Given the description of an element on the screen output the (x, y) to click on. 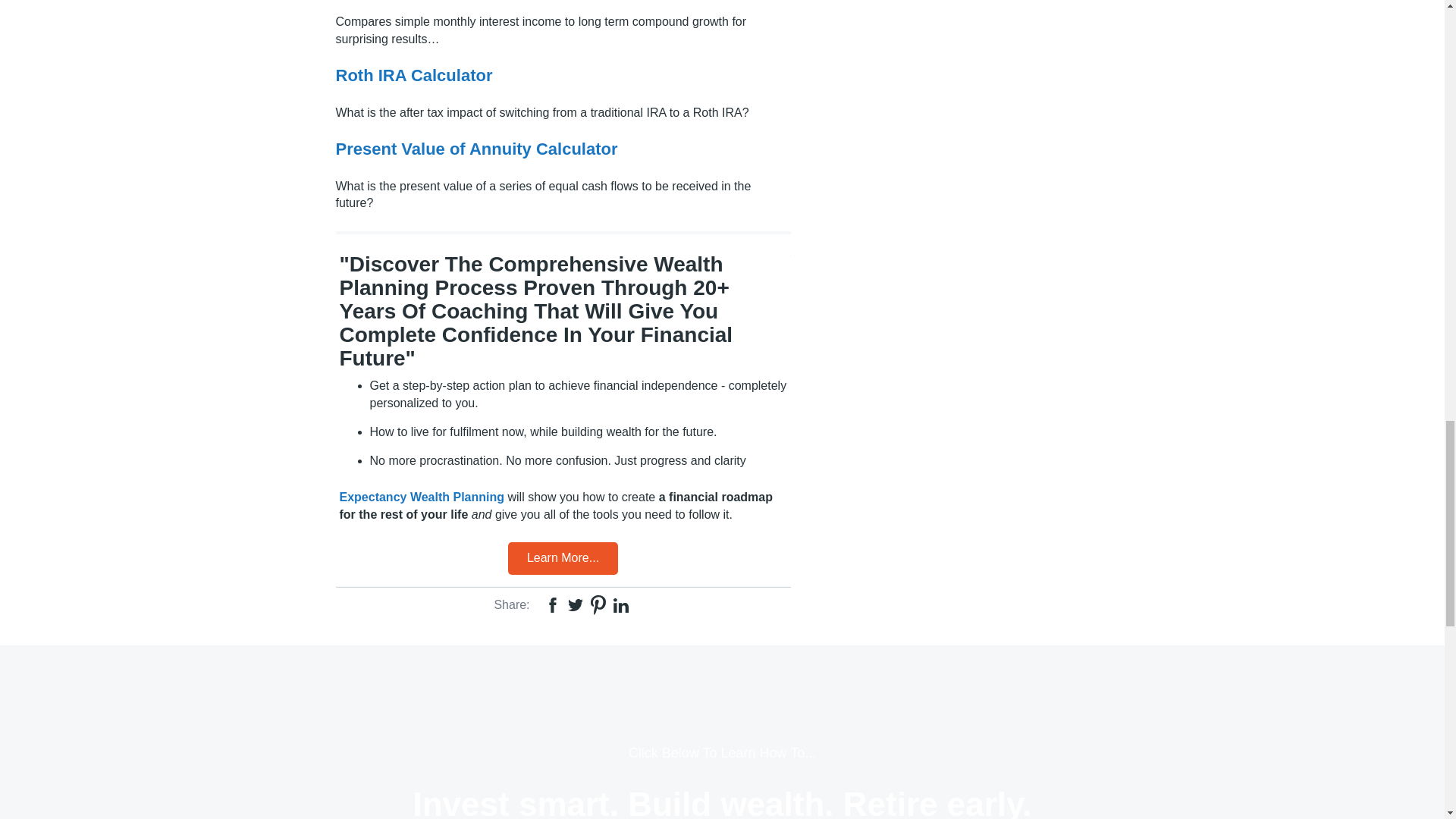
Roth IRA Calculator (413, 75)
Roth IRA Calculator (413, 75)
Annuity Calculator (475, 148)
Expectancy Wealth Planning (422, 496)
Present Value of Annuity Calculator (475, 148)
Learn More... (562, 558)
